Given the description of an element on the screen output the (x, y) to click on. 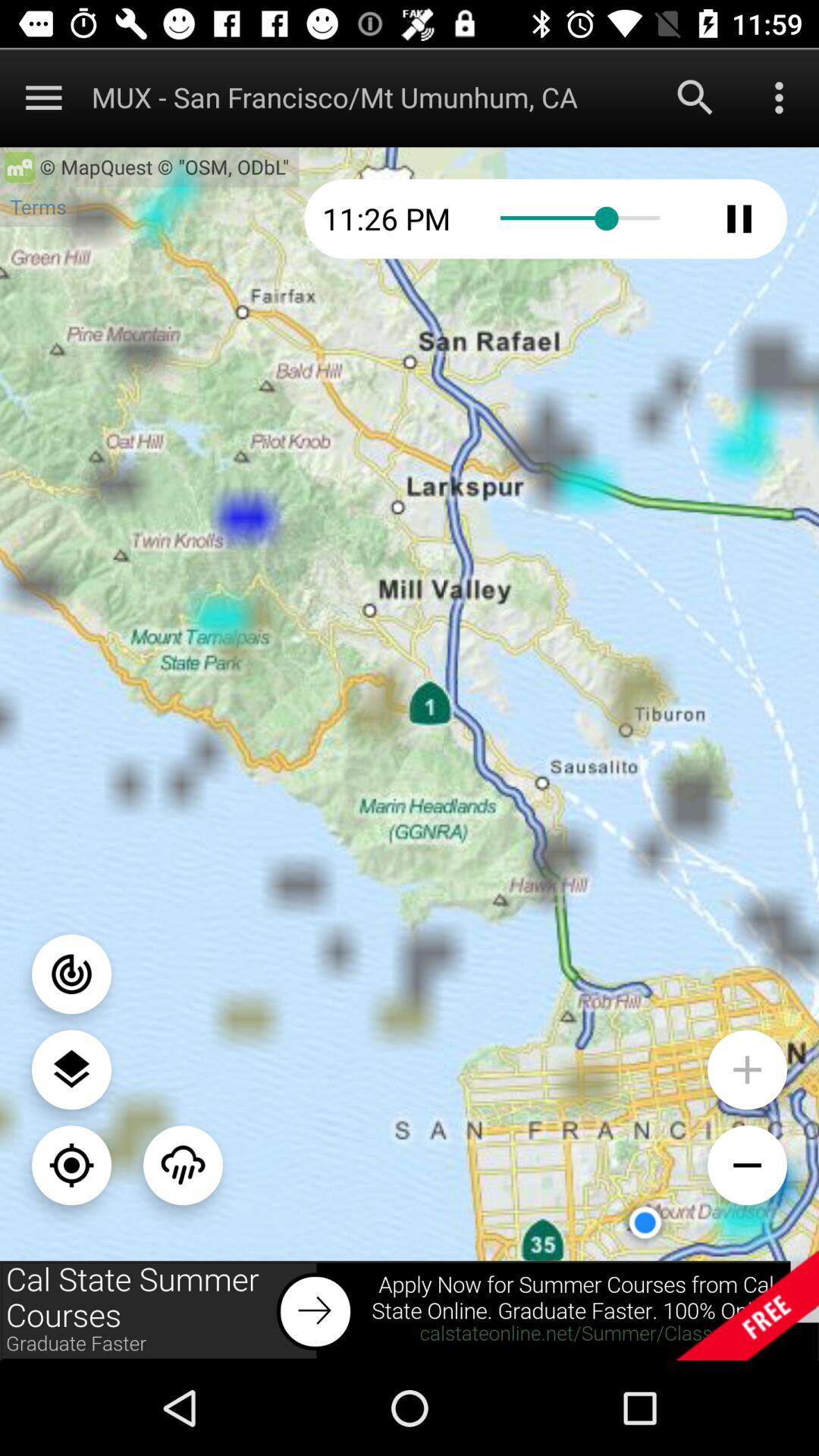
go to search option (695, 97)
